Given the description of an element on the screen output the (x, y) to click on. 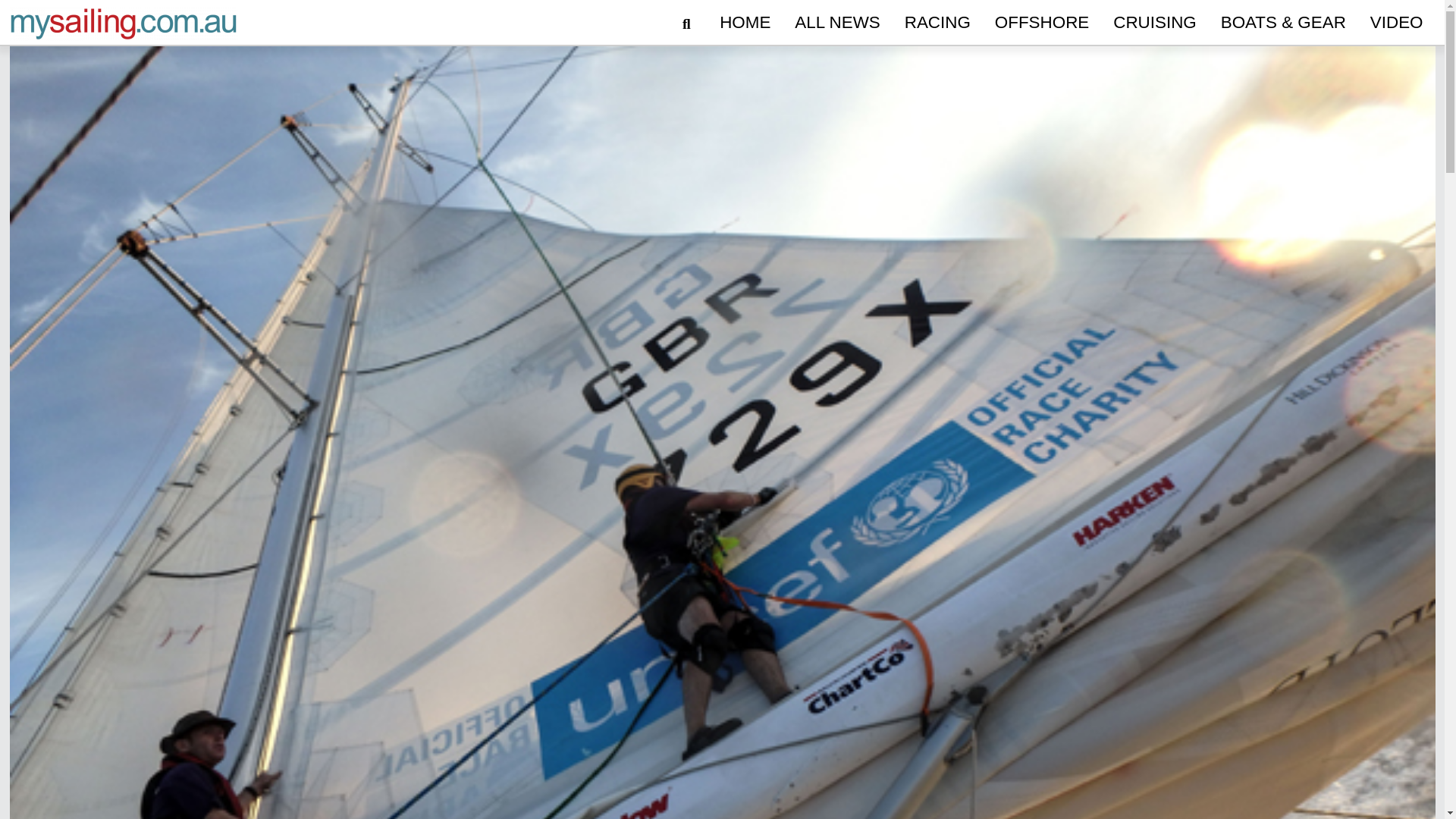
ALL NEWS (837, 22)
Video (1396, 22)
RACING (937, 22)
Cruising (1154, 22)
VIDEO (1396, 22)
All News (837, 22)
CRUISING (1154, 22)
Racing (937, 22)
Offshore (1041, 22)
OFFSHORE (1041, 22)
HOME (744, 22)
Home (744, 22)
